Given the description of an element on the screen output the (x, y) to click on. 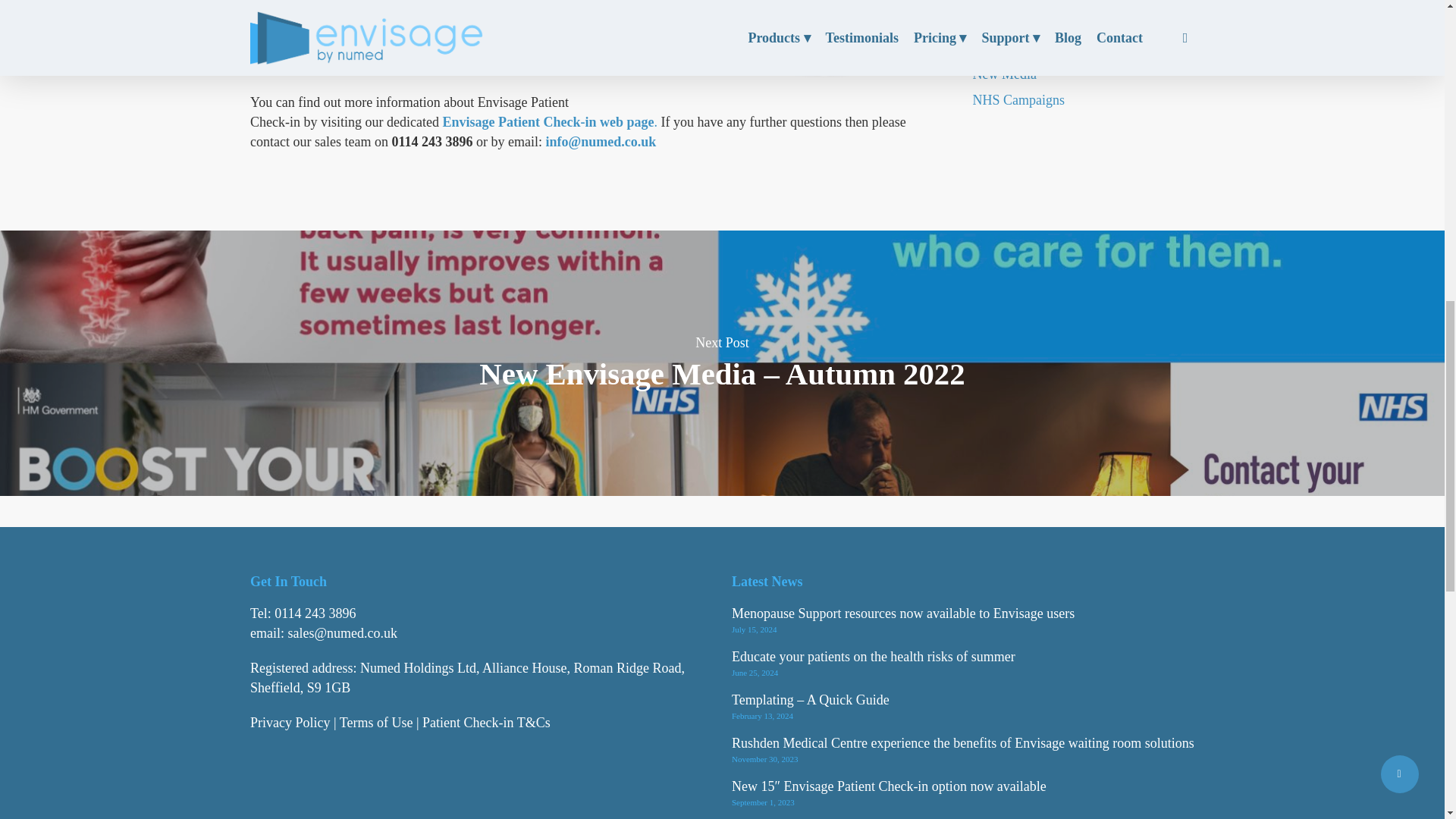
Envisage Patient Check-in web page. (550, 121)
unique rental option (421, 42)
Company News (1082, 3)
Customer Feedback (1082, 22)
New Media (1082, 74)
NHS Campaigns (1082, 99)
